Given the description of an element on the screen output the (x, y) to click on. 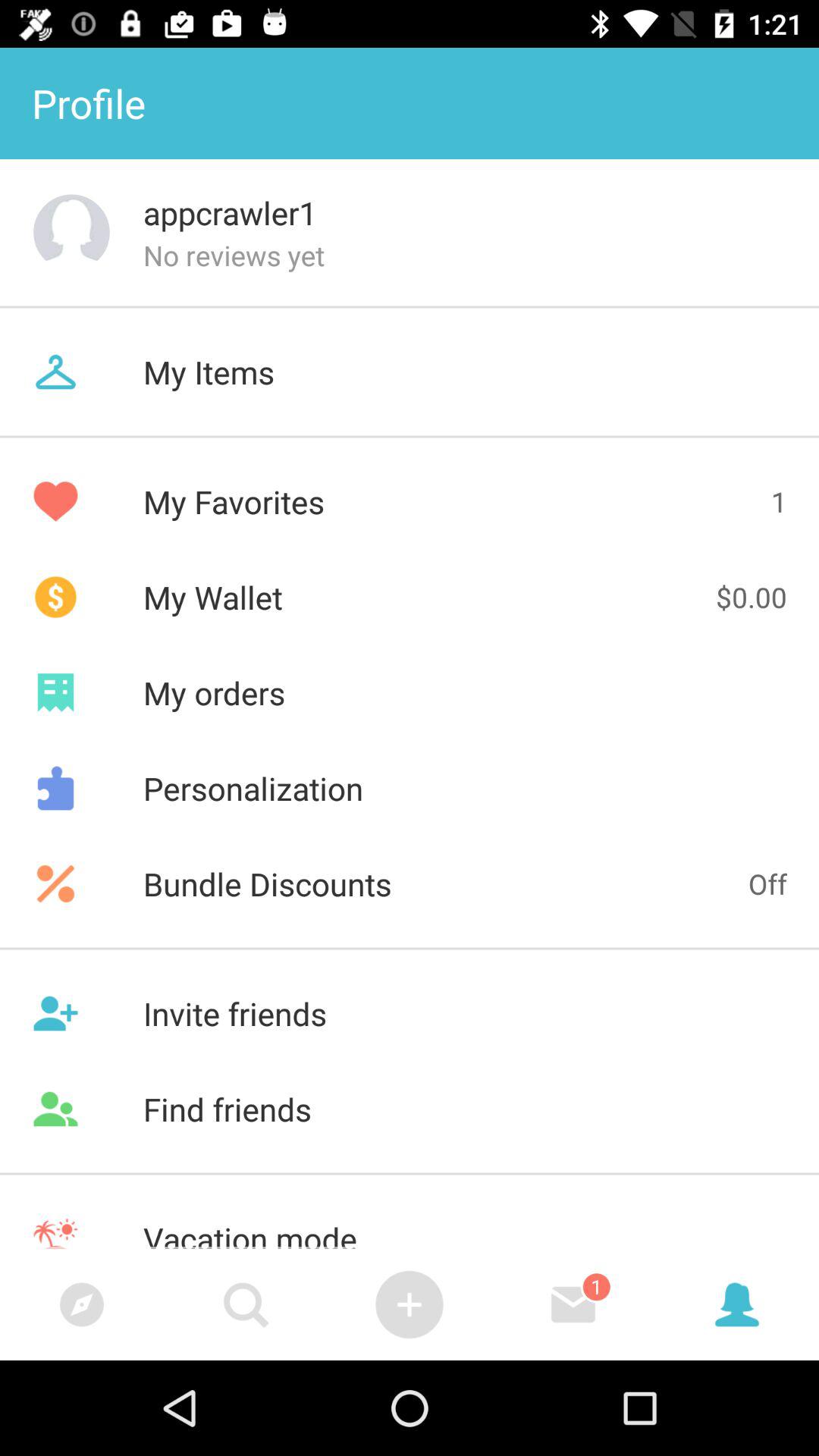
click on account icon which is right side of message box (737, 1305)
click on the plus icon (409, 1304)
compass icon in bottom left corner (82, 1305)
